Given the description of an element on the screen output the (x, y) to click on. 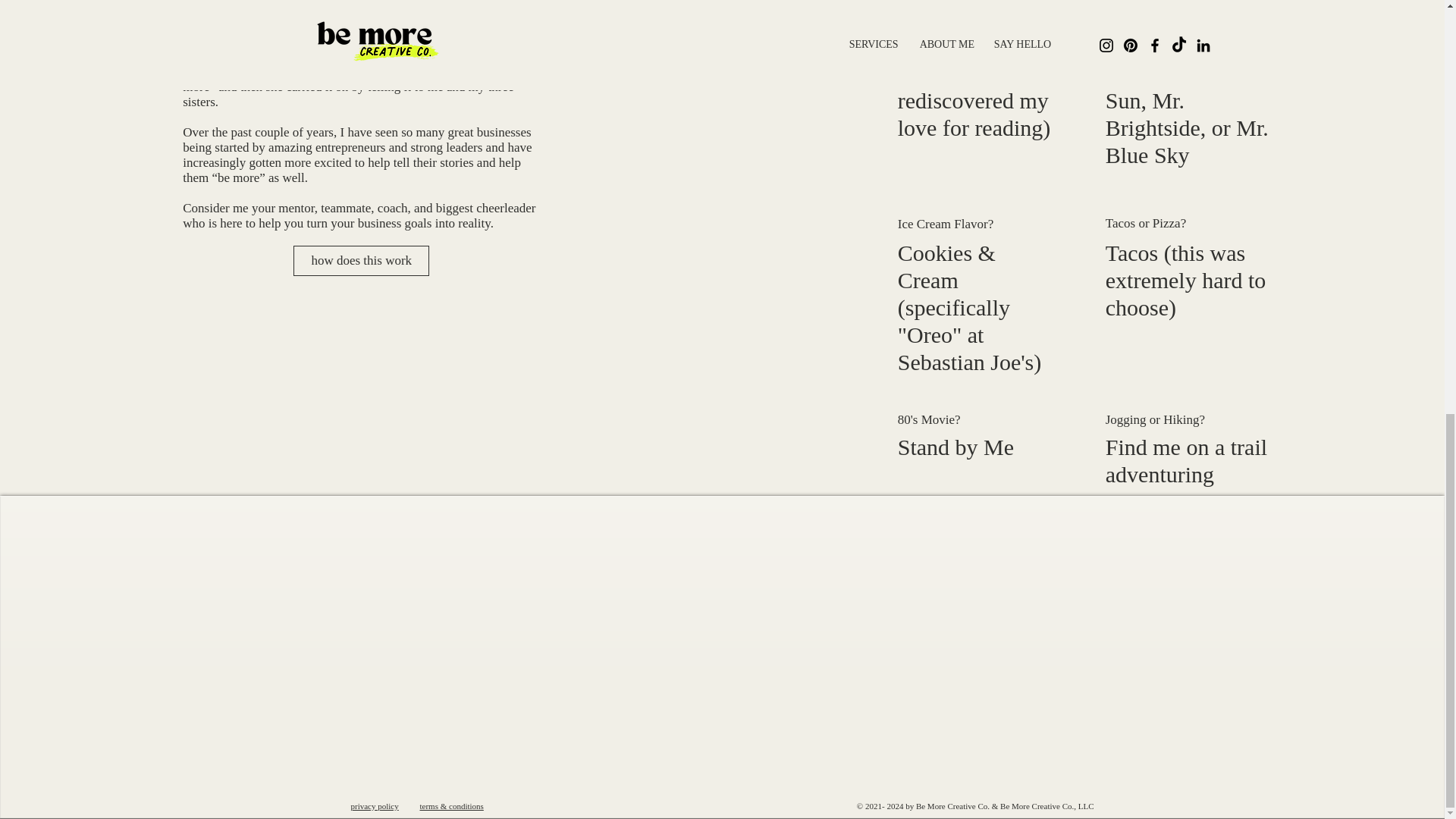
how does this work (361, 260)
privacy policy (373, 805)
